Given the description of an element on the screen output the (x, y) to click on. 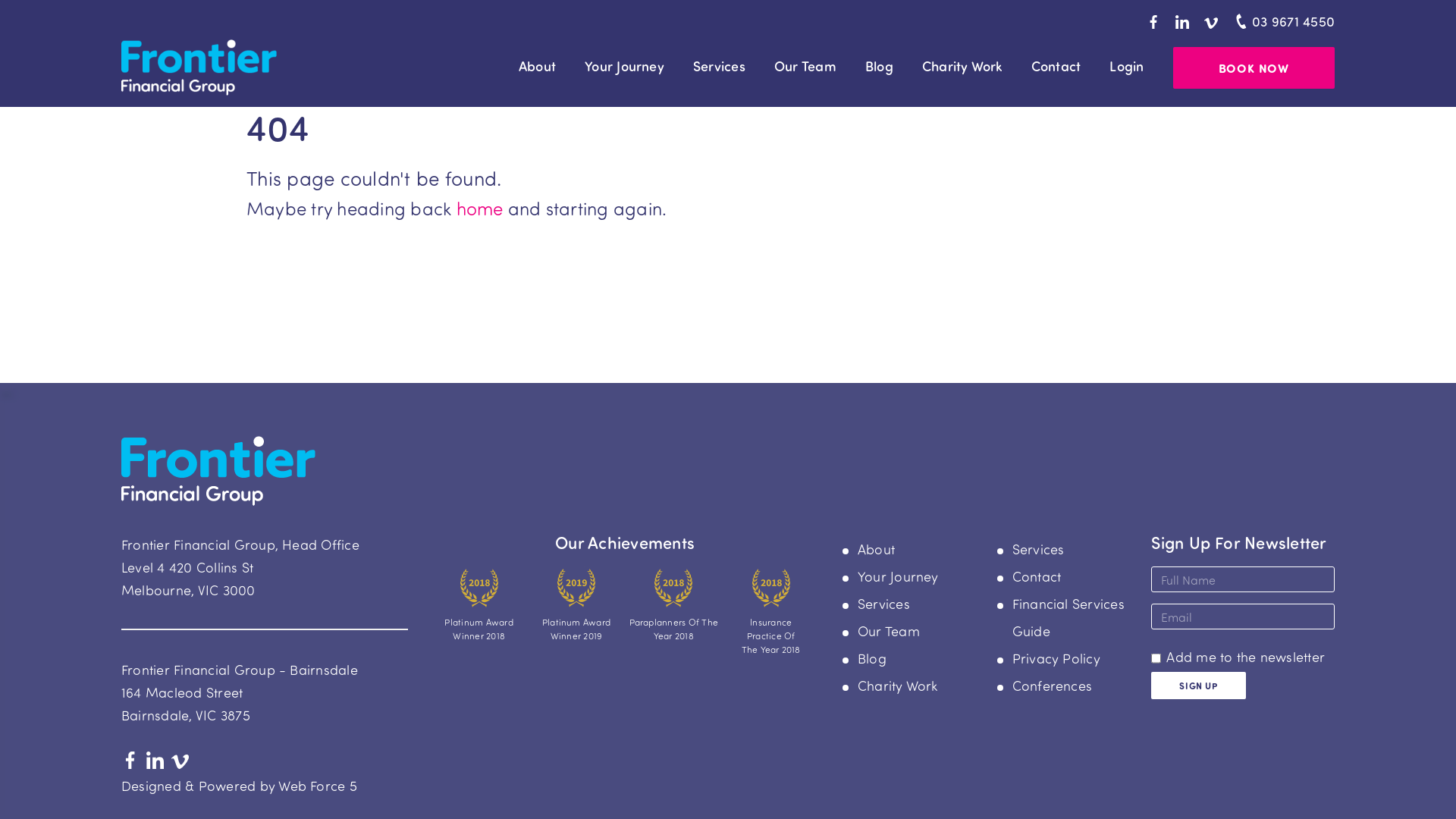
Conferences Element type: text (1052, 685)
Services Element type: text (718, 65)
Services Element type: text (883, 603)
About Element type: text (537, 65)
home Element type: text (479, 207)
Contact Element type: text (1055, 65)
Login Element type: text (1126, 65)
Designed & Powered by Web Force 5 Element type: text (239, 785)
Financial Services Guide Element type: text (1068, 617)
Our Team Element type: text (804, 65)
Your Journey Element type: text (624, 65)
Blog Element type: text (878, 65)
Services Element type: text (1038, 548)
Contact Element type: text (1036, 576)
Charity Work Element type: text (897, 685)
Sign up Element type: text (1198, 685)
Our Team Element type: text (888, 630)
03 9671 4550 Element type: text (1281, 21)
Your Journey Element type: text (897, 576)
BOOK NOW Element type: text (1253, 67)
Charity Work Element type: text (961, 65)
Privacy Policy Element type: text (1056, 658)
About Element type: text (875, 548)
Blog Element type: text (871, 658)
